Given the description of an element on the screen output the (x, y) to click on. 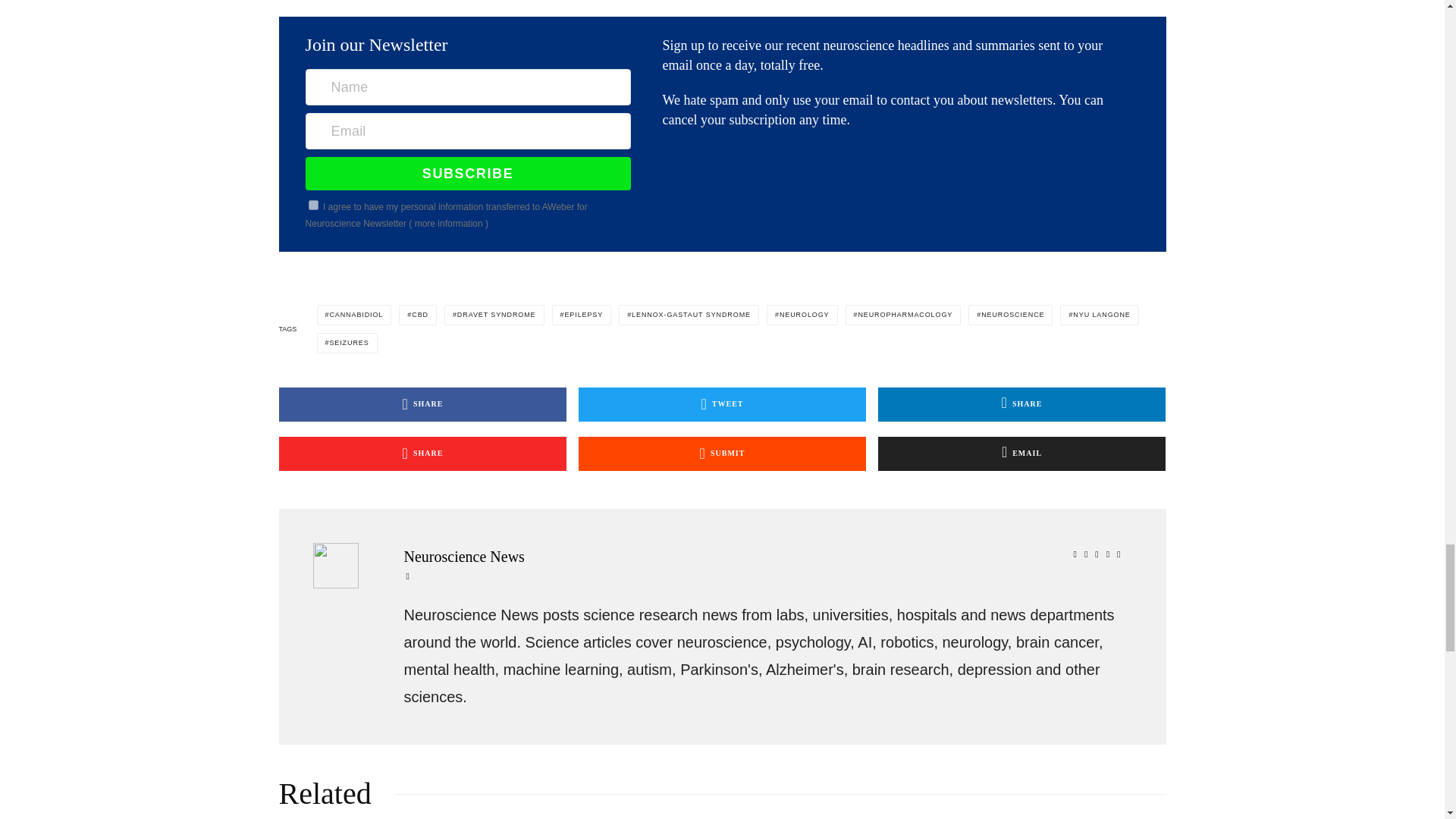
on (313, 204)
EMAIL (1021, 453)
SEIZURES (347, 342)
EPILEPSY (581, 314)
SHARE (423, 404)
LENNOX-GASTAUT SYNDROME (688, 314)
NEUROPHARMACOLOGY (902, 314)
NEUROLOGY (802, 314)
NYU LANGONE (1098, 314)
SUBMIT (722, 453)
